Given the description of an element on the screen output the (x, y) to click on. 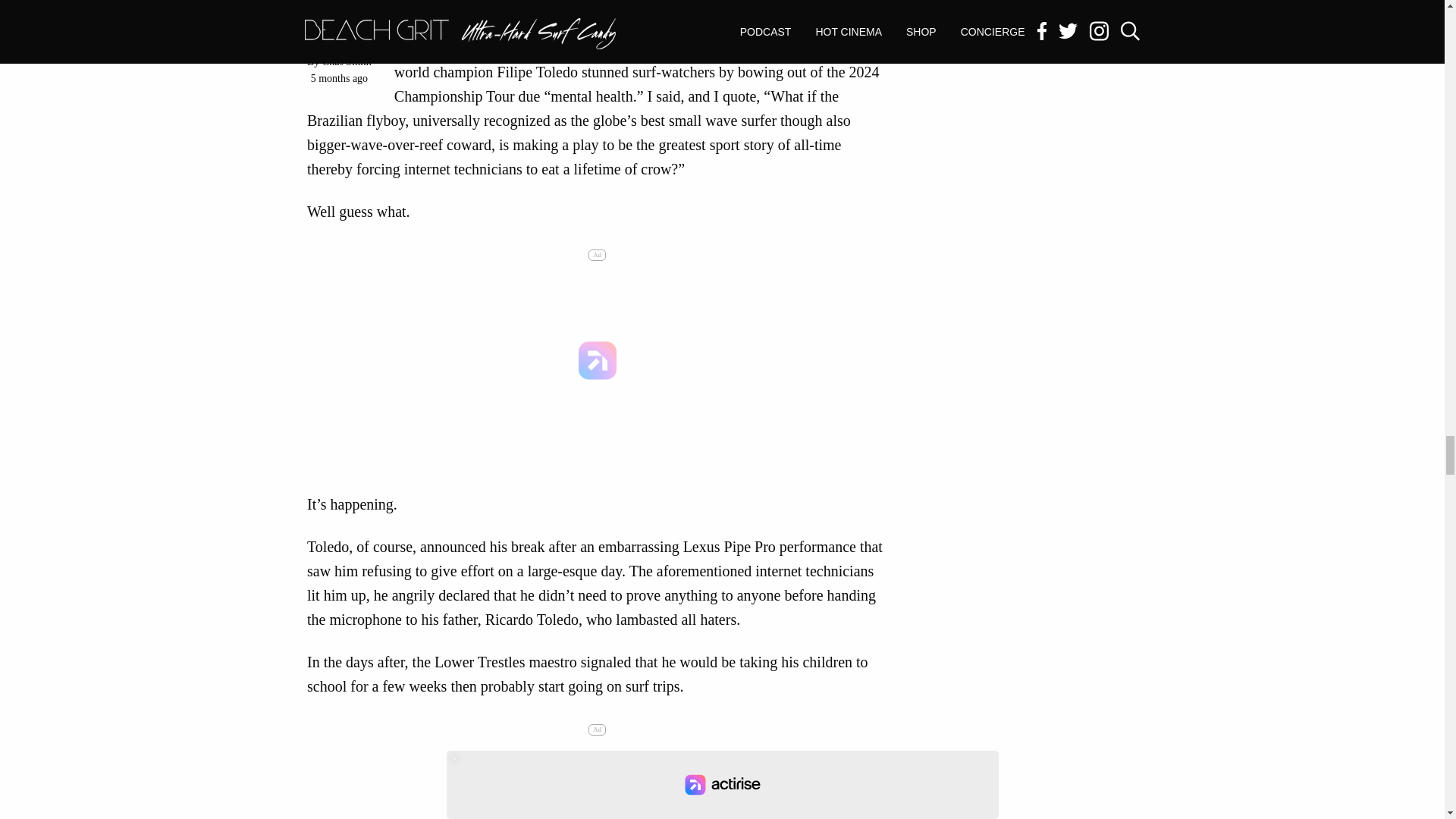
Chas Smith (346, 61)
